Given the description of an element on the screen output the (x, y) to click on. 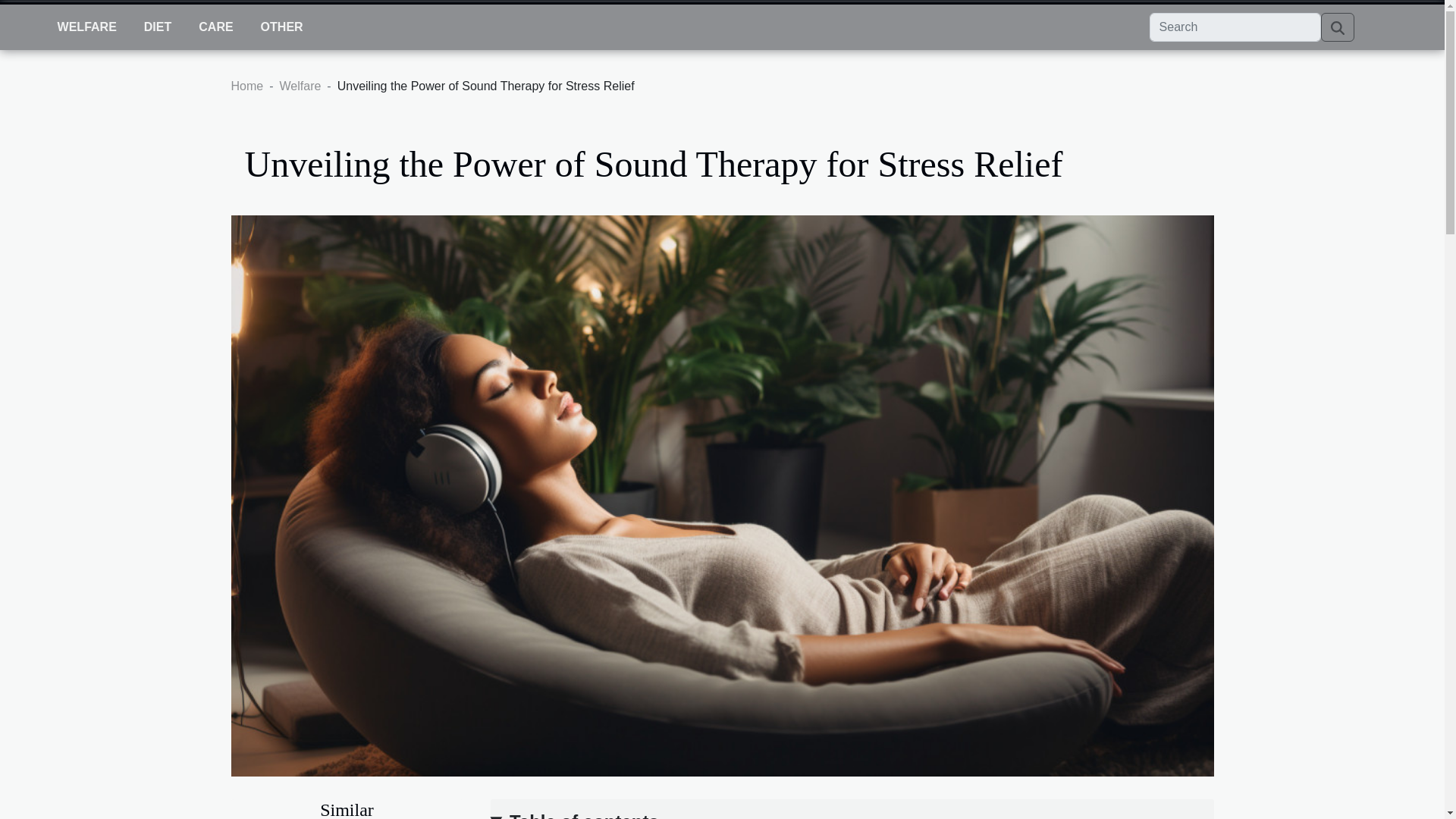
Welfare (300, 85)
Home (246, 85)
CARE (215, 26)
OTHER (282, 26)
WELFARE (87, 26)
DIET (157, 26)
Welfare (300, 85)
